Given the description of an element on the screen output the (x, y) to click on. 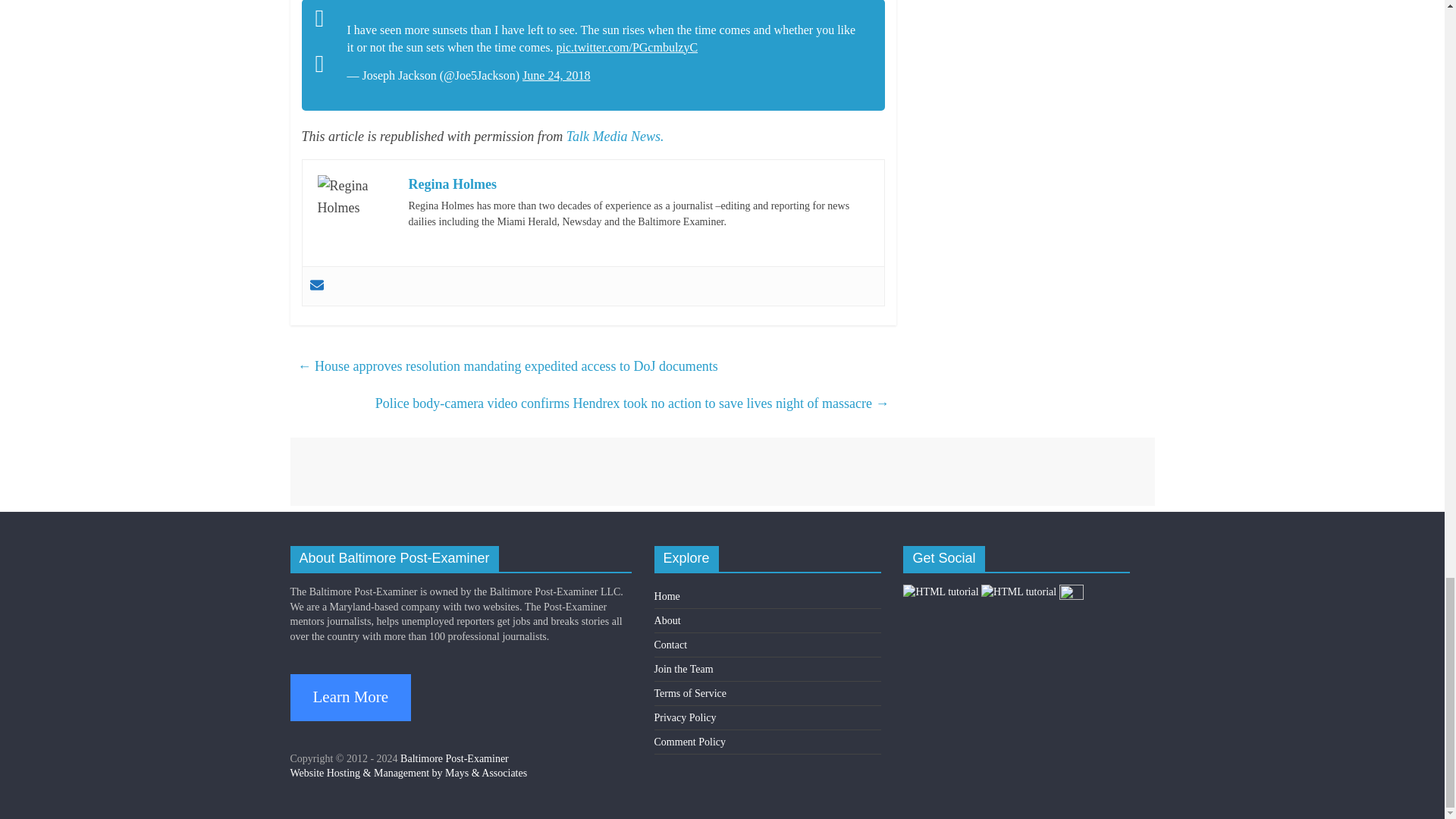
Regina Holmes (451, 183)
June 24, 2018 (555, 74)
Baltimore Post-Examiner (454, 758)
Talk Media News. (614, 136)
